Given the description of an element on the screen output the (x, y) to click on. 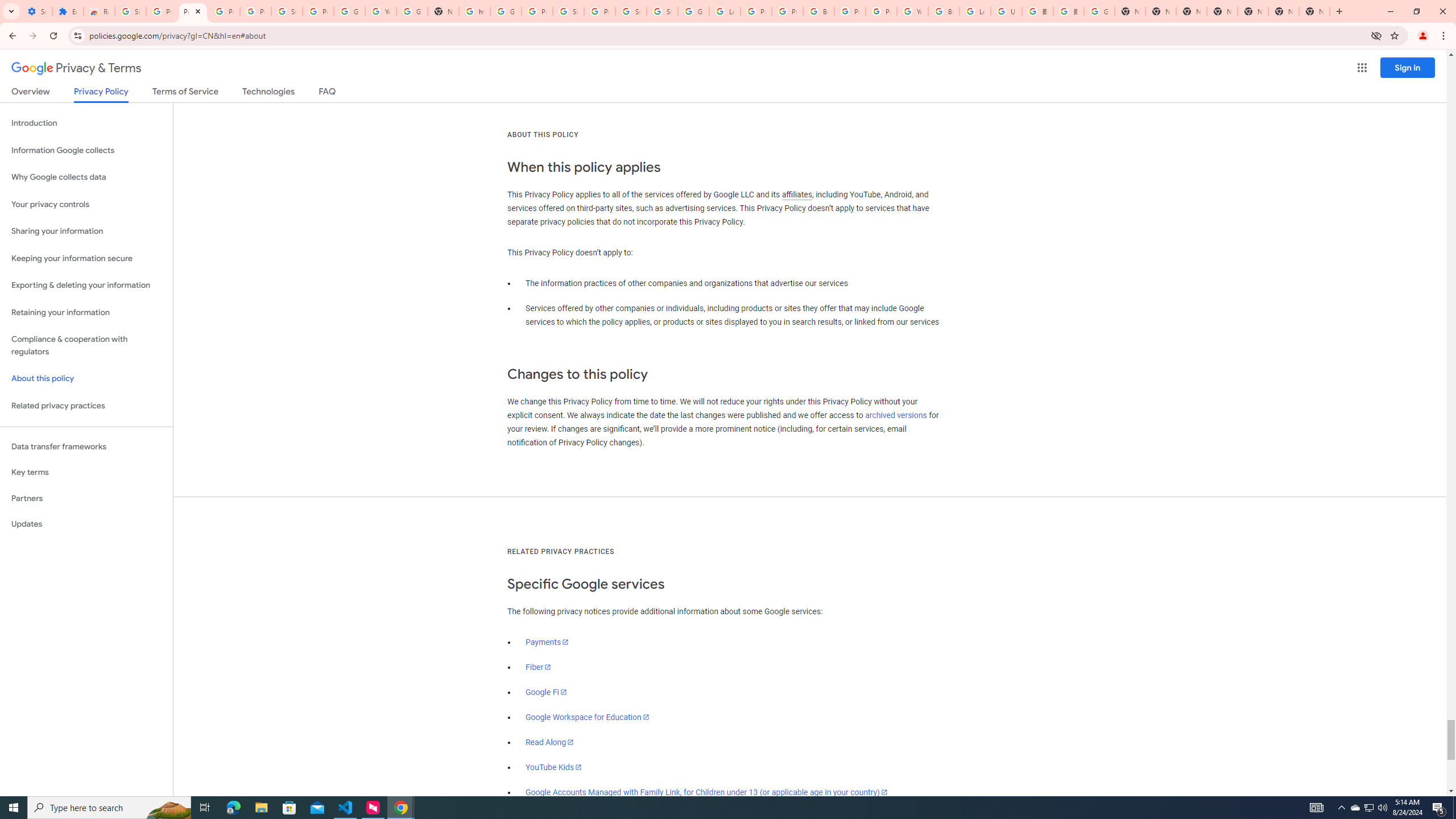
Settings - On startup (36, 11)
Related privacy practices (86, 405)
Sign in - Google Accounts (662, 11)
New Tab (1314, 11)
Privacy Help Center - Policies Help (756, 11)
Partners (86, 497)
About this policy (86, 379)
